Given the description of an element on the screen output the (x, y) to click on. 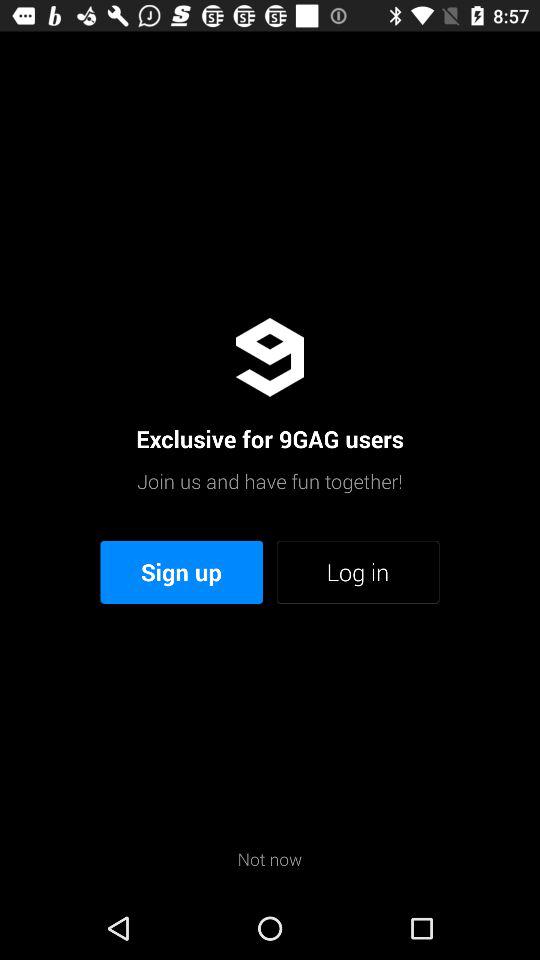
click item below the sign up icon (269, 858)
